Given the description of an element on the screen output the (x, y) to click on. 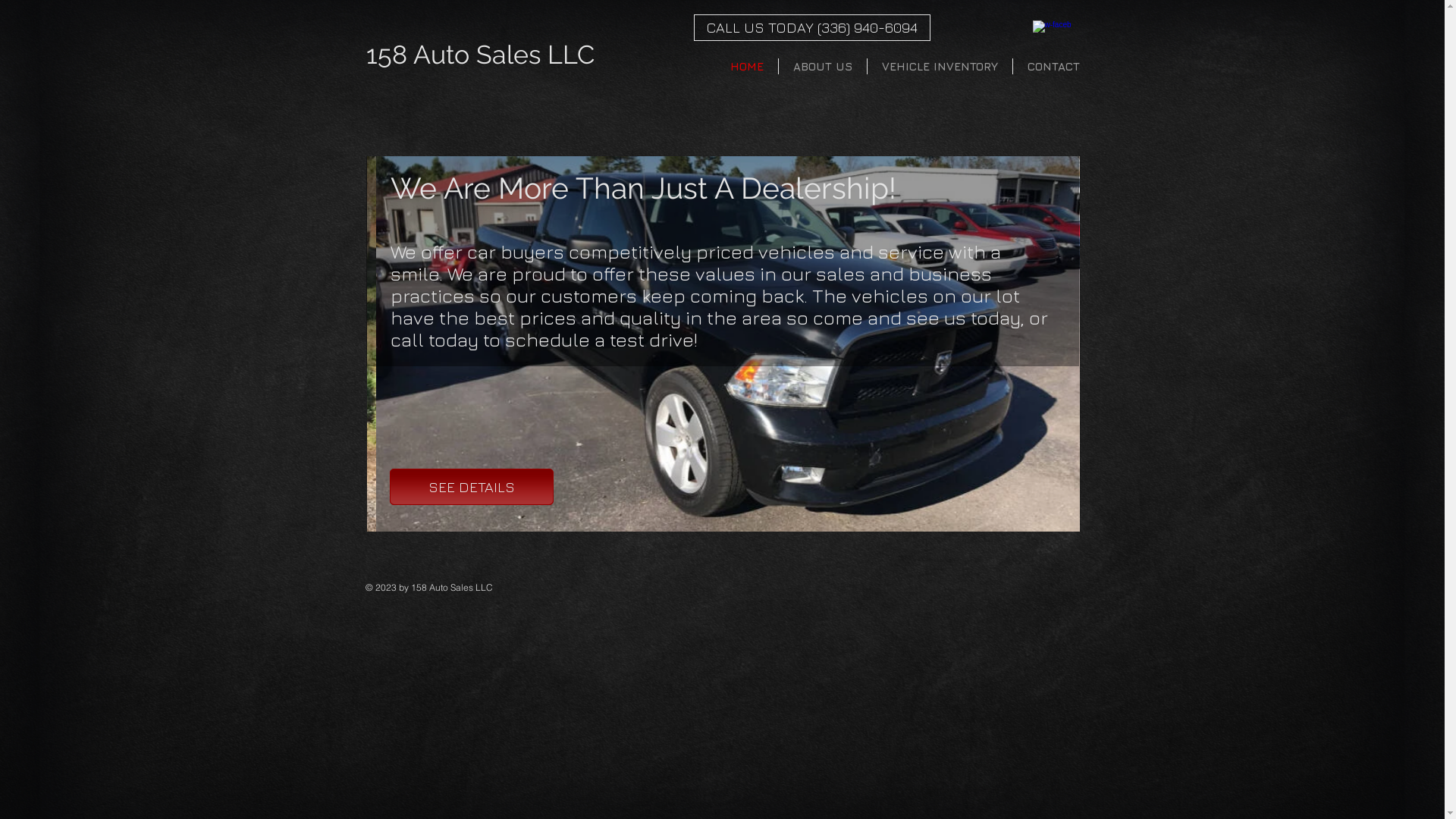
CALL US TODAY (336) 940-6094 Element type: text (811, 27)
HOME Element type: text (746, 66)
ABOUT US Element type: text (822, 66)
VEHICLE INVENTORY Element type: text (939, 66)
CONTACT Element type: text (1053, 66)
SEE DETAILS Element type: text (471, 486)
Web-Stat Element type: hover (955, 109)
